Given the description of an element on the screen output the (x, y) to click on. 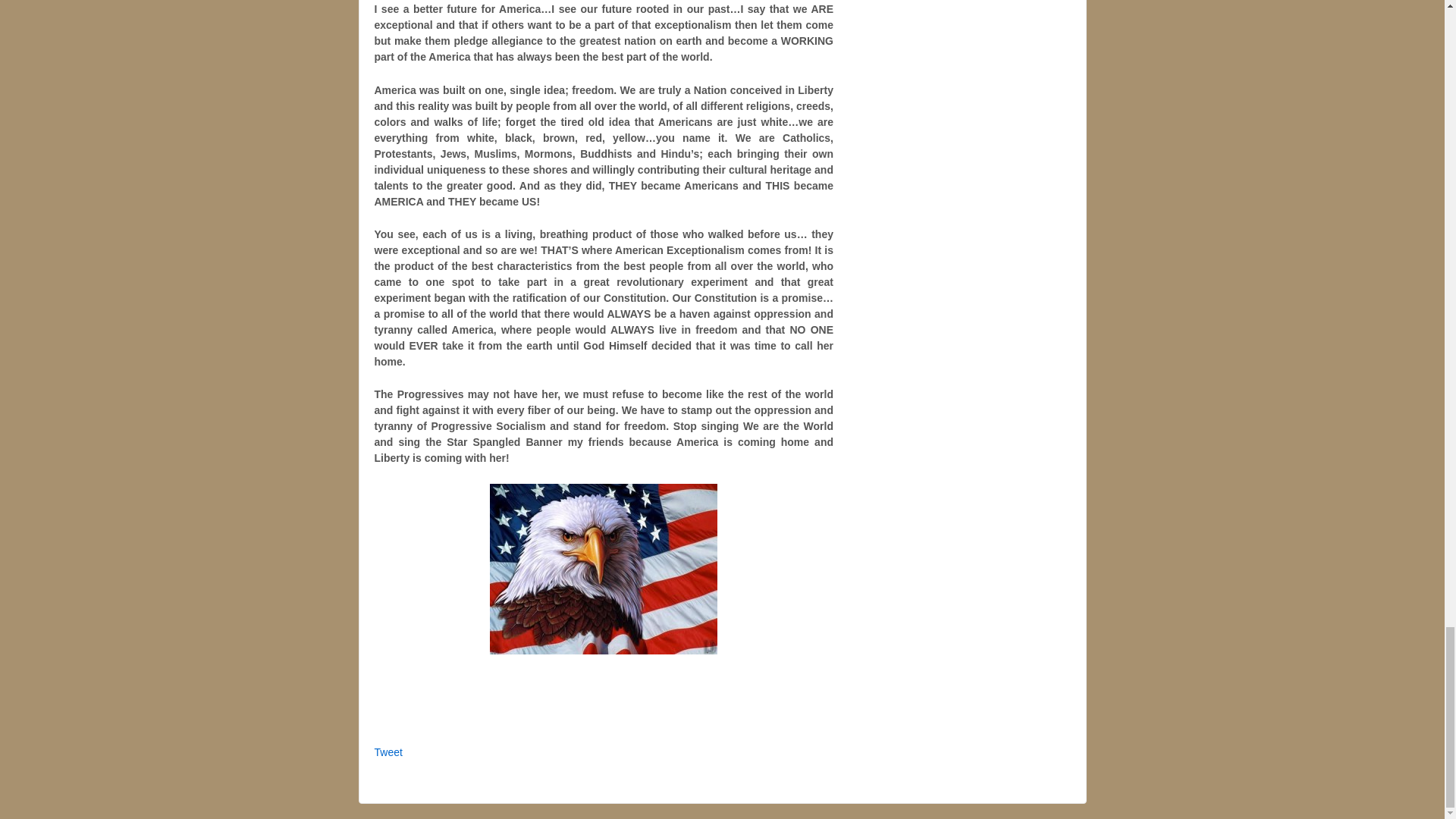
Tweet (388, 752)
